Given the description of an element on the screen output the (x, y) to click on. 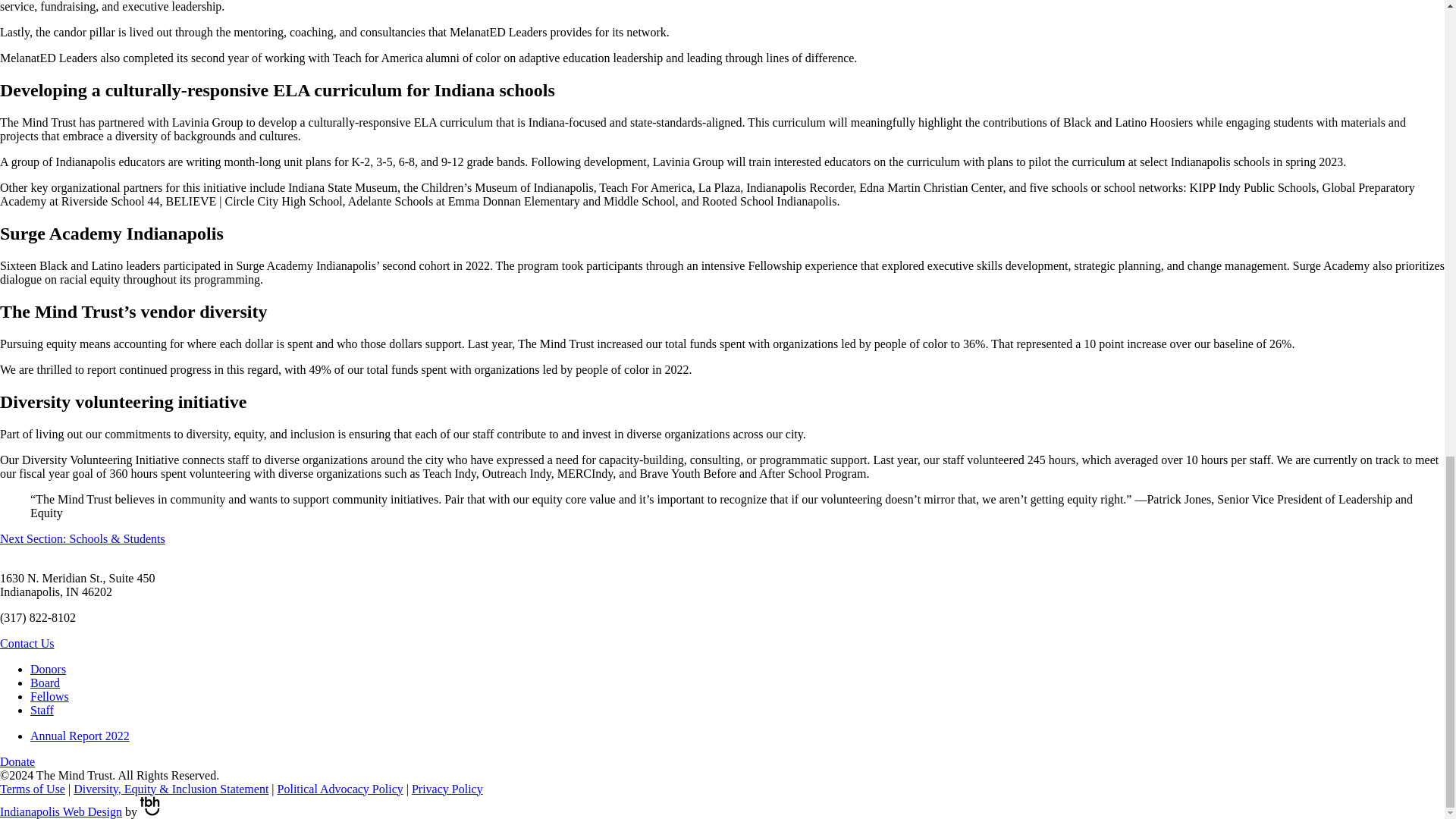
Fellows (49, 695)
Annual Report 2022 (79, 735)
Staff (41, 708)
Board (44, 681)
Donors (47, 667)
Terms of Use (32, 788)
Political Advocacy Policy (340, 788)
Contact Us (27, 642)
Donate (17, 760)
Indianapolis Web Design (61, 810)
